Given the description of an element on the screen output the (x, y) to click on. 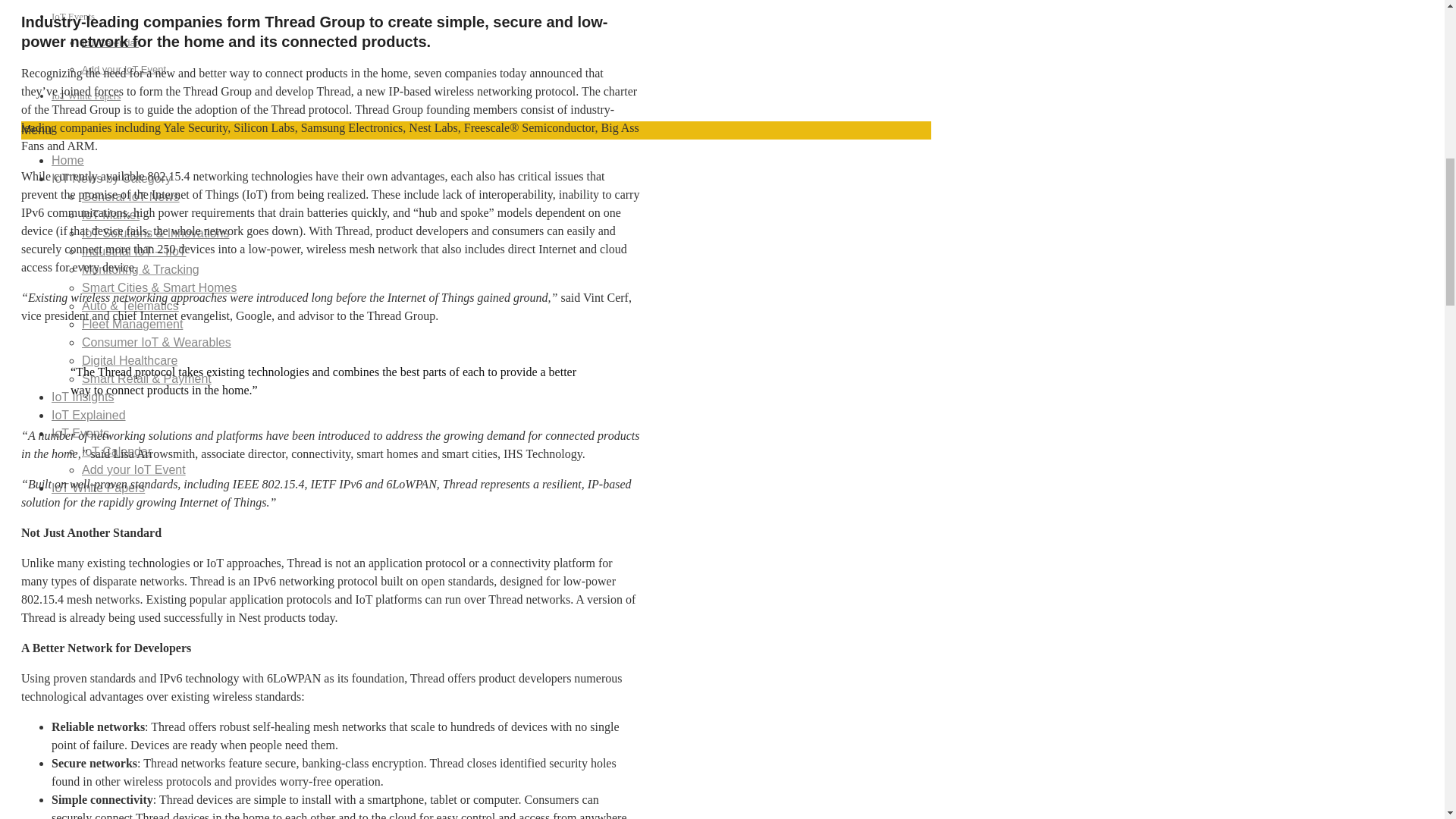
IoT White Papers (85, 95)
IoT Events (72, 16)
IoT Calendar (109, 42)
Home (67, 160)
IoT News by Category (110, 178)
Add your IoT Event (123, 69)
IoT Market (110, 214)
General IoT News (130, 196)
